Given the description of an element on the screen output the (x, y) to click on. 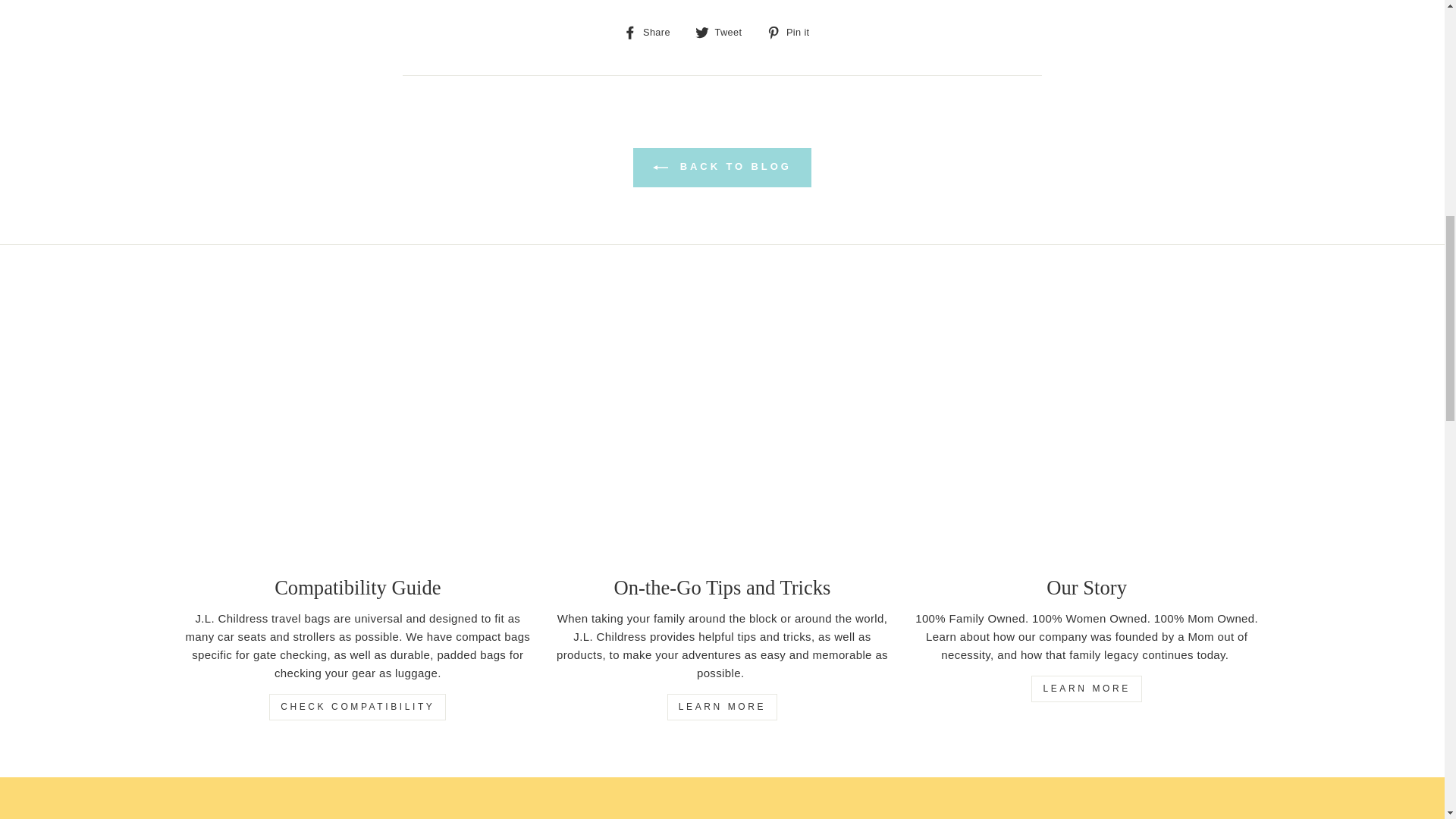
Pin on Pinterest (794, 31)
Tweet on Twitter (723, 31)
Share on Facebook (652, 31)
